Given the description of an element on the screen output the (x, y) to click on. 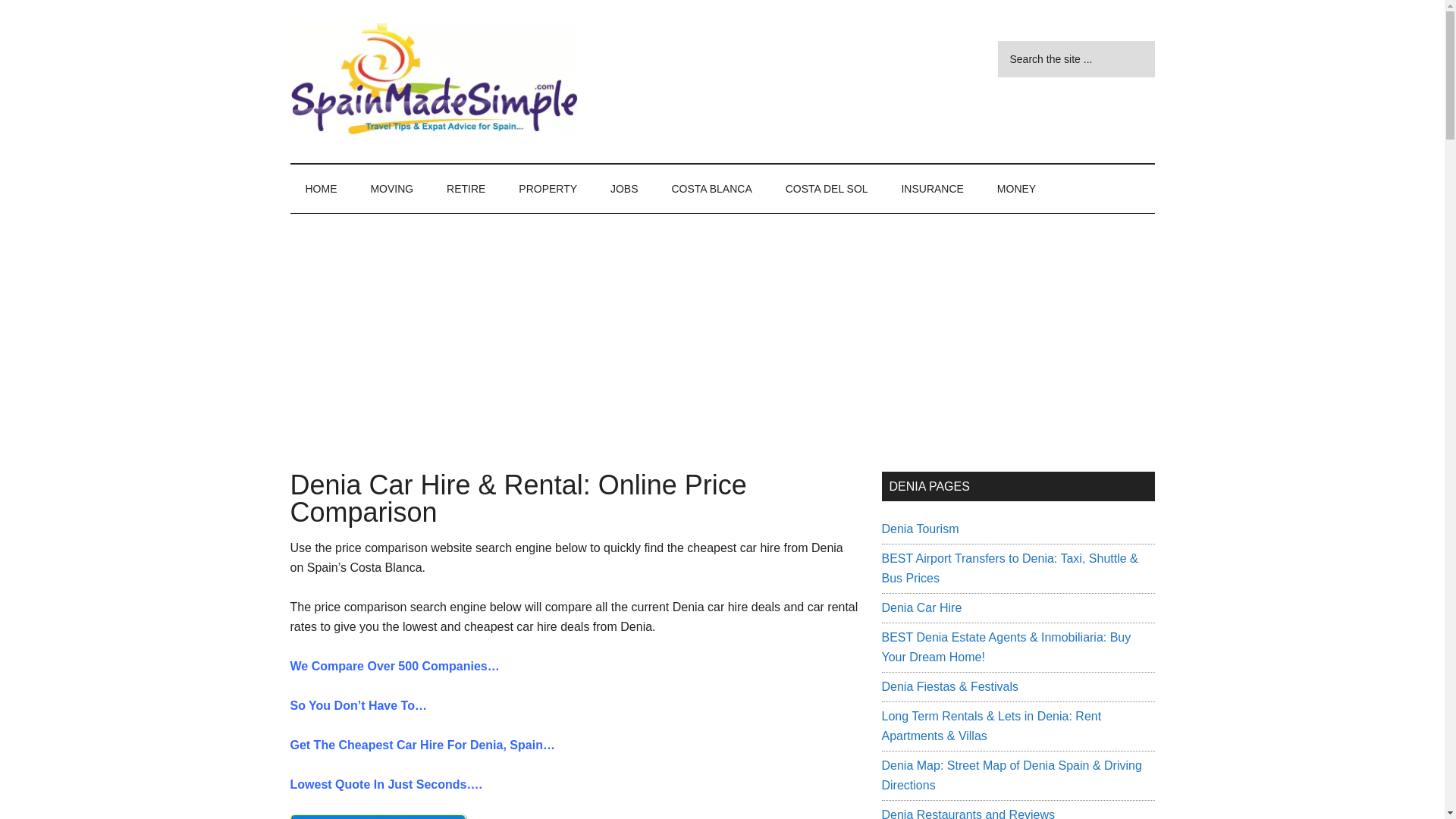
HOME (320, 188)
MOVING (391, 188)
MONEY (1016, 188)
COSTA BLANCA (711, 188)
COSTA DEL SOL (826, 188)
JOBS (624, 188)
RETIRE (465, 188)
Costa del Sol (826, 188)
INSURANCE (931, 188)
PROPERTY (547, 188)
